Given the description of an element on the screen output the (x, y) to click on. 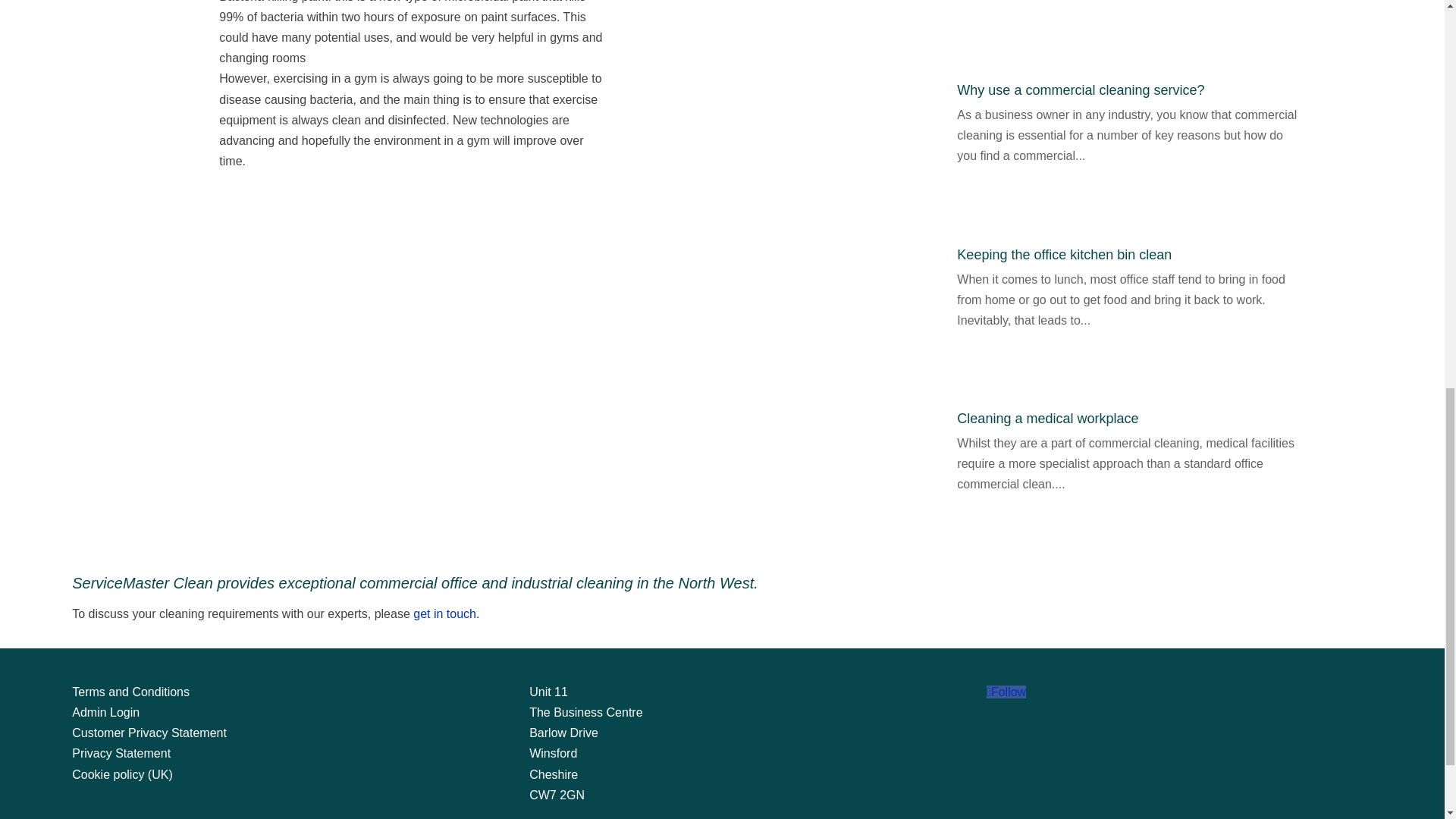
Customer Privacy Statement (149, 732)
get in touch. (445, 613)
Terms and Conditions (130, 691)
Privacy Statement (120, 753)
Admin Login (105, 712)
Follow (1006, 691)
Follow on Facebook (1006, 691)
